Given the description of an element on the screen output the (x, y) to click on. 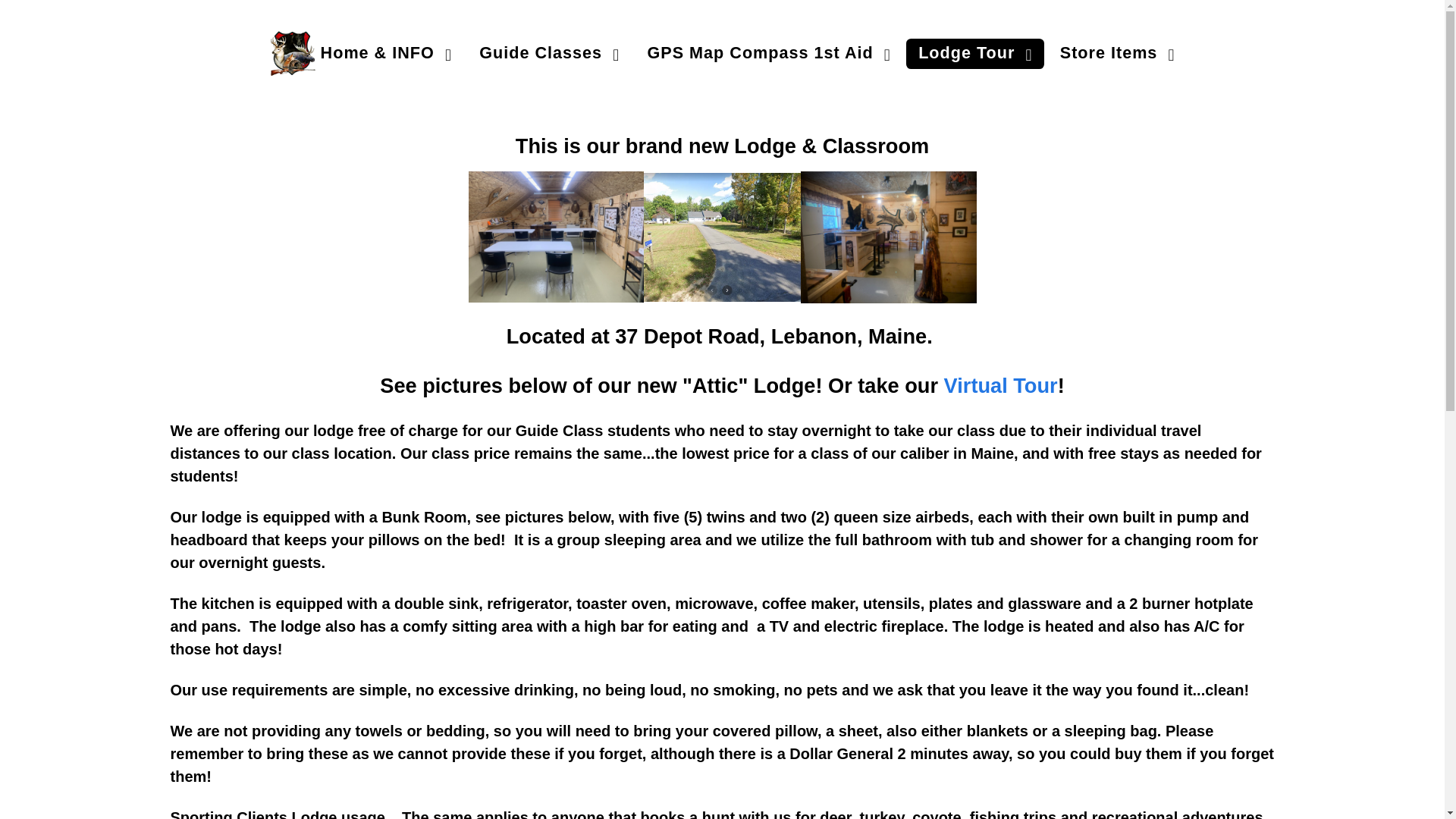
Virtual Tour (1000, 385)
